Given the description of an element on the screen output the (x, y) to click on. 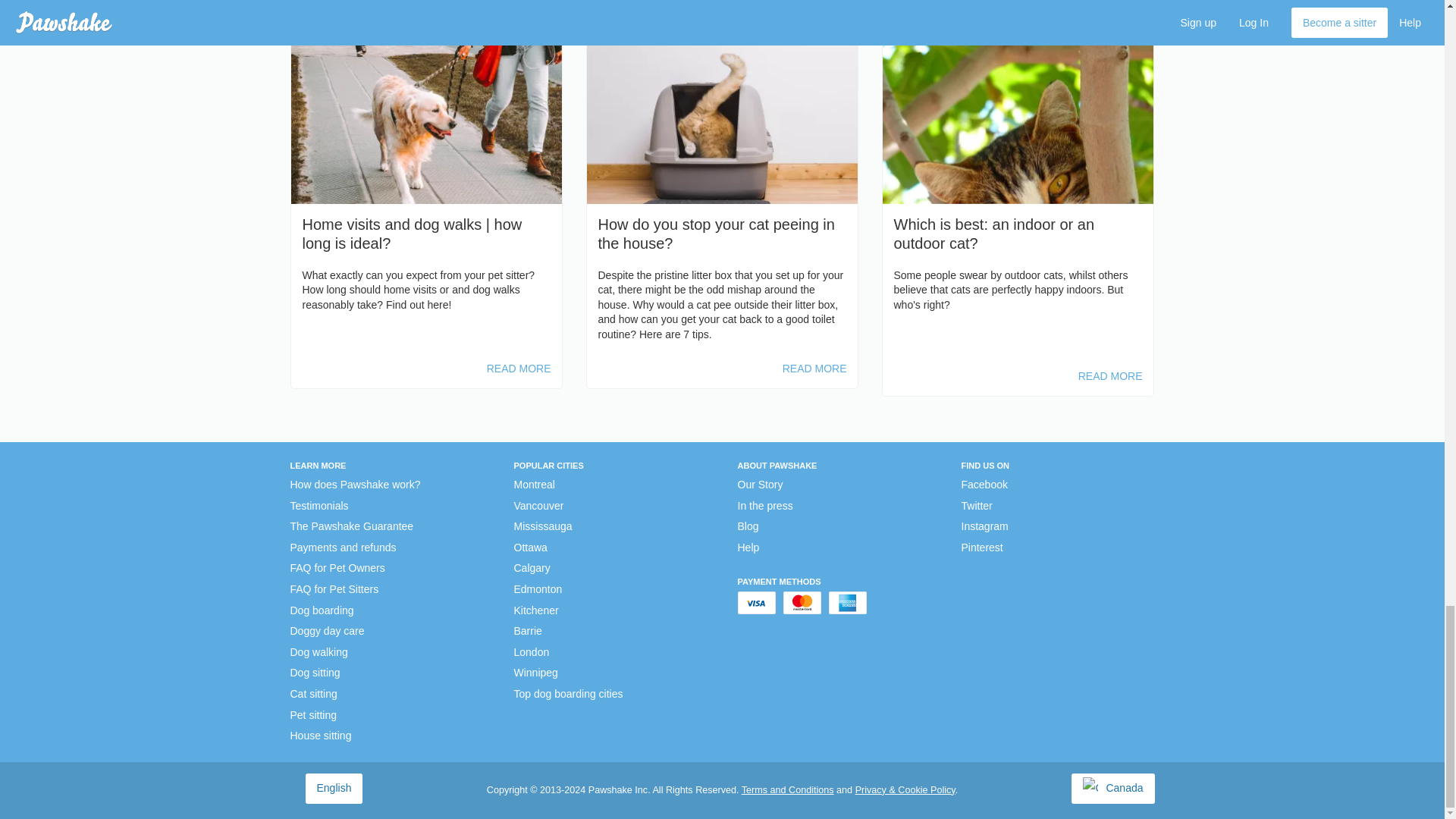
Testimonials (318, 506)
Pet sitting (312, 715)
How does Pawshake work? (354, 485)
Vancouver (538, 506)
The Pawshake Guarantee (351, 526)
Ottawa (530, 548)
House sitting (334, 787)
Mississauga (319, 735)
Payments and refunds (542, 526)
Dog boarding (342, 548)
Cat sitting (321, 611)
FAQ for Pet Sitters (312, 694)
Montreal (333, 589)
Dog sitting (533, 485)
